Given the description of an element on the screen output the (x, y) to click on. 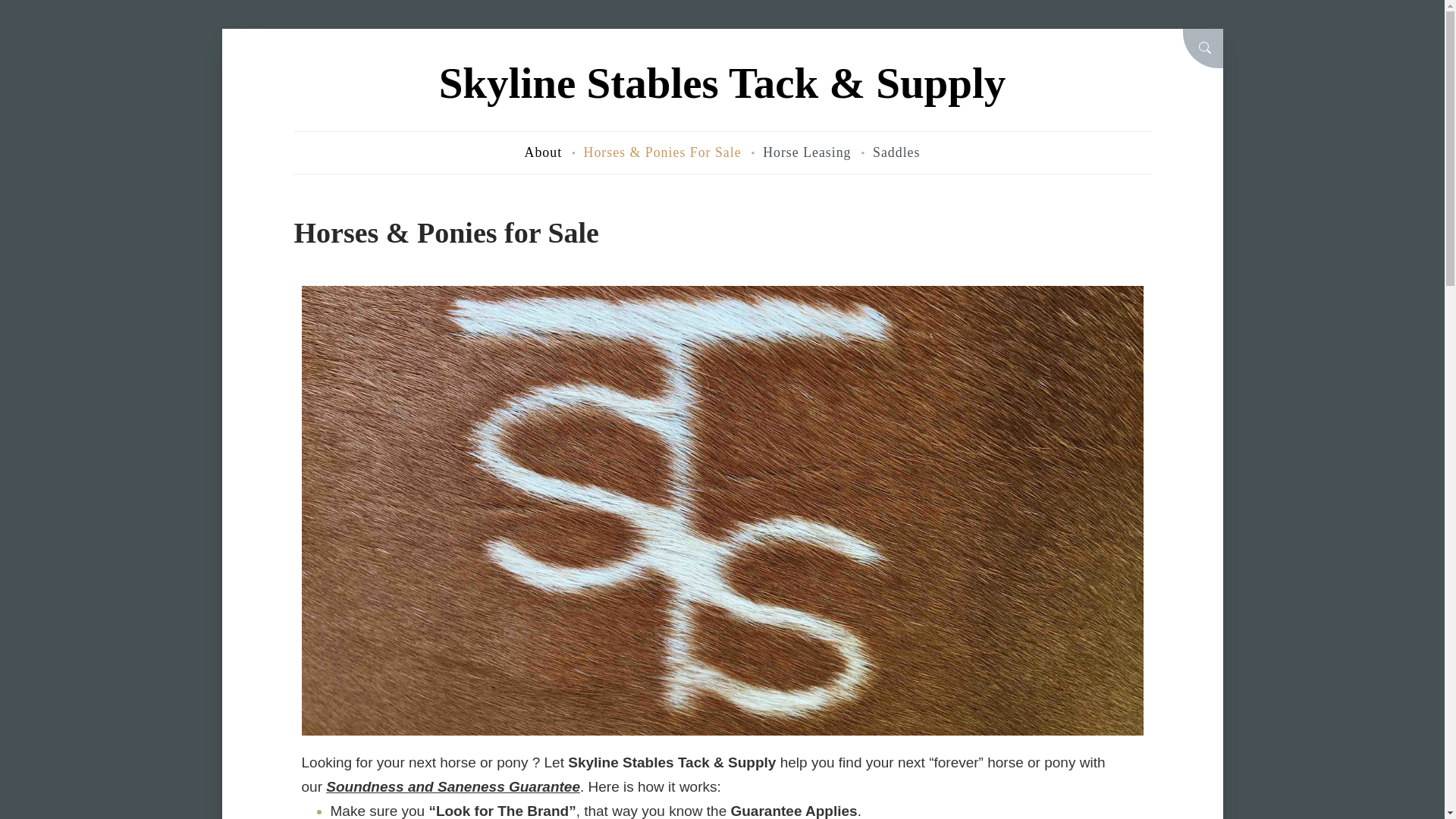
Saddles (896, 152)
Horse Leasing (806, 152)
About (543, 152)
SEARCH (1202, 47)
